Given the description of an element on the screen output the (x, y) to click on. 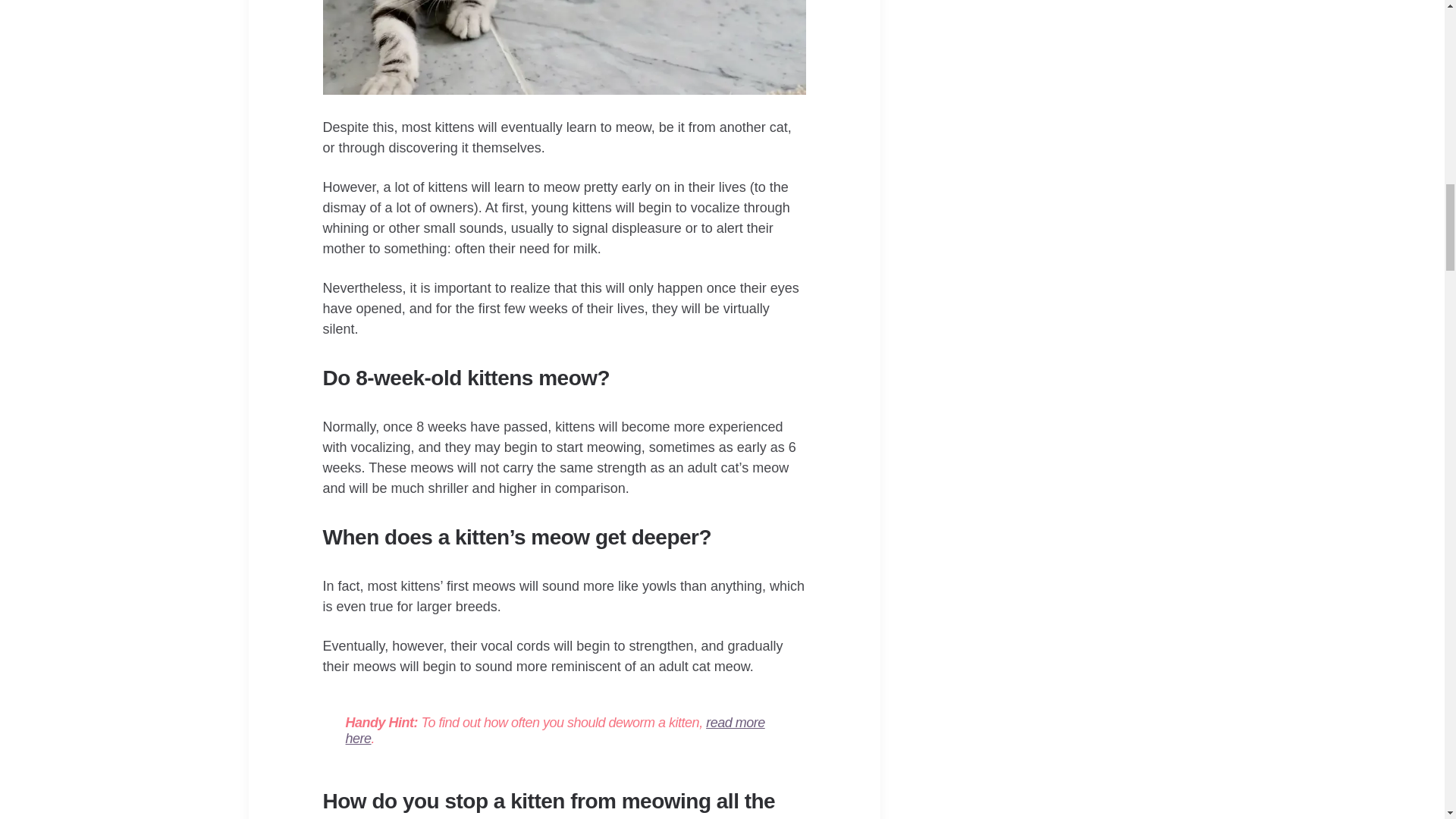
When Do Kittens Start Meowing? 31 (564, 47)
